Given the description of an element on the screen output the (x, y) to click on. 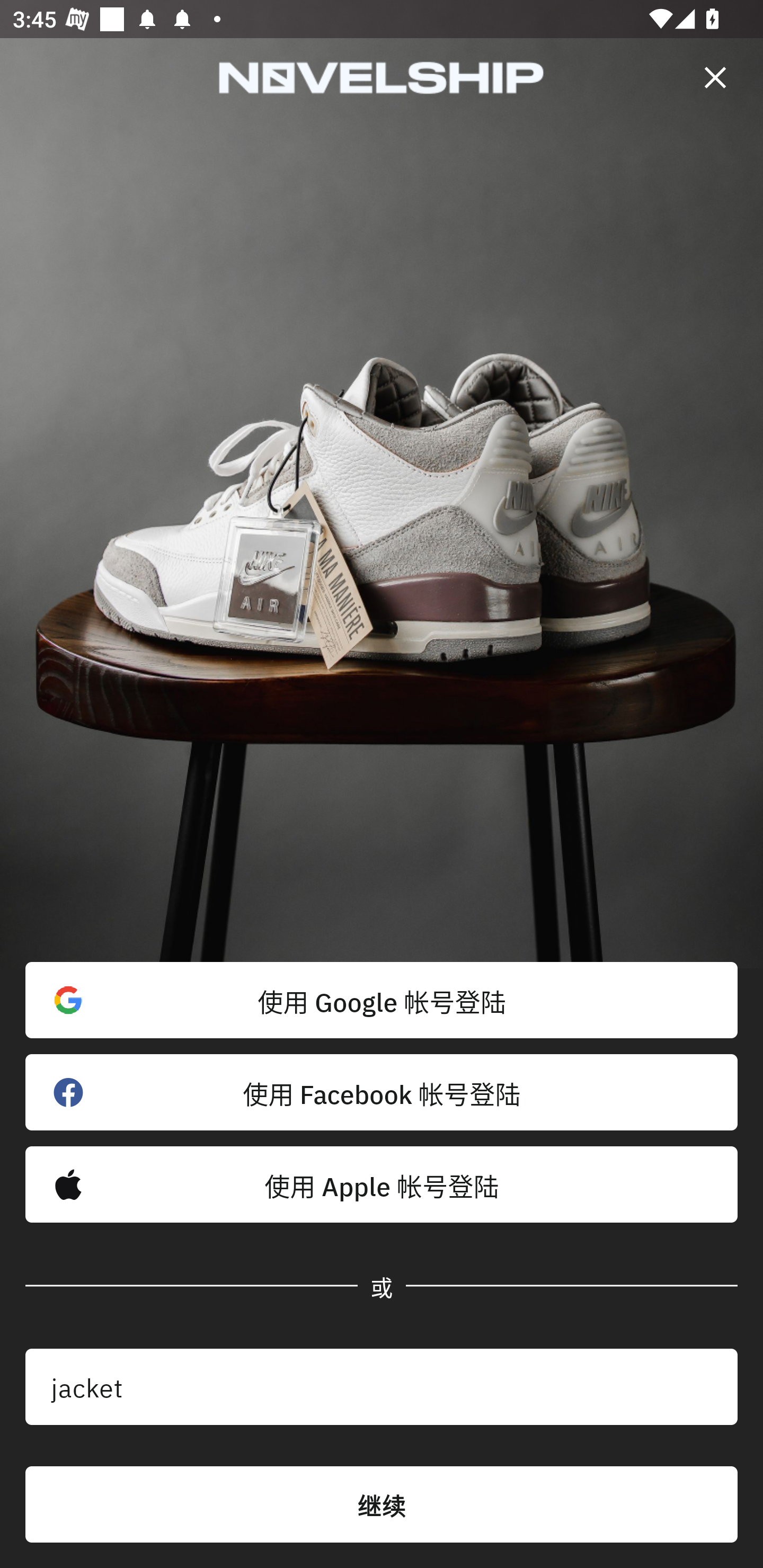
使用 Google 帐号登陆 (381, 1000)
使用 Facebook 帐号登陆 󰈌 (381, 1091)
 使用 Apple 帐号登陆 (381, 1184)
jacket (381, 1386)
继续 (381, 1504)
